Given the description of an element on the screen output the (x, y) to click on. 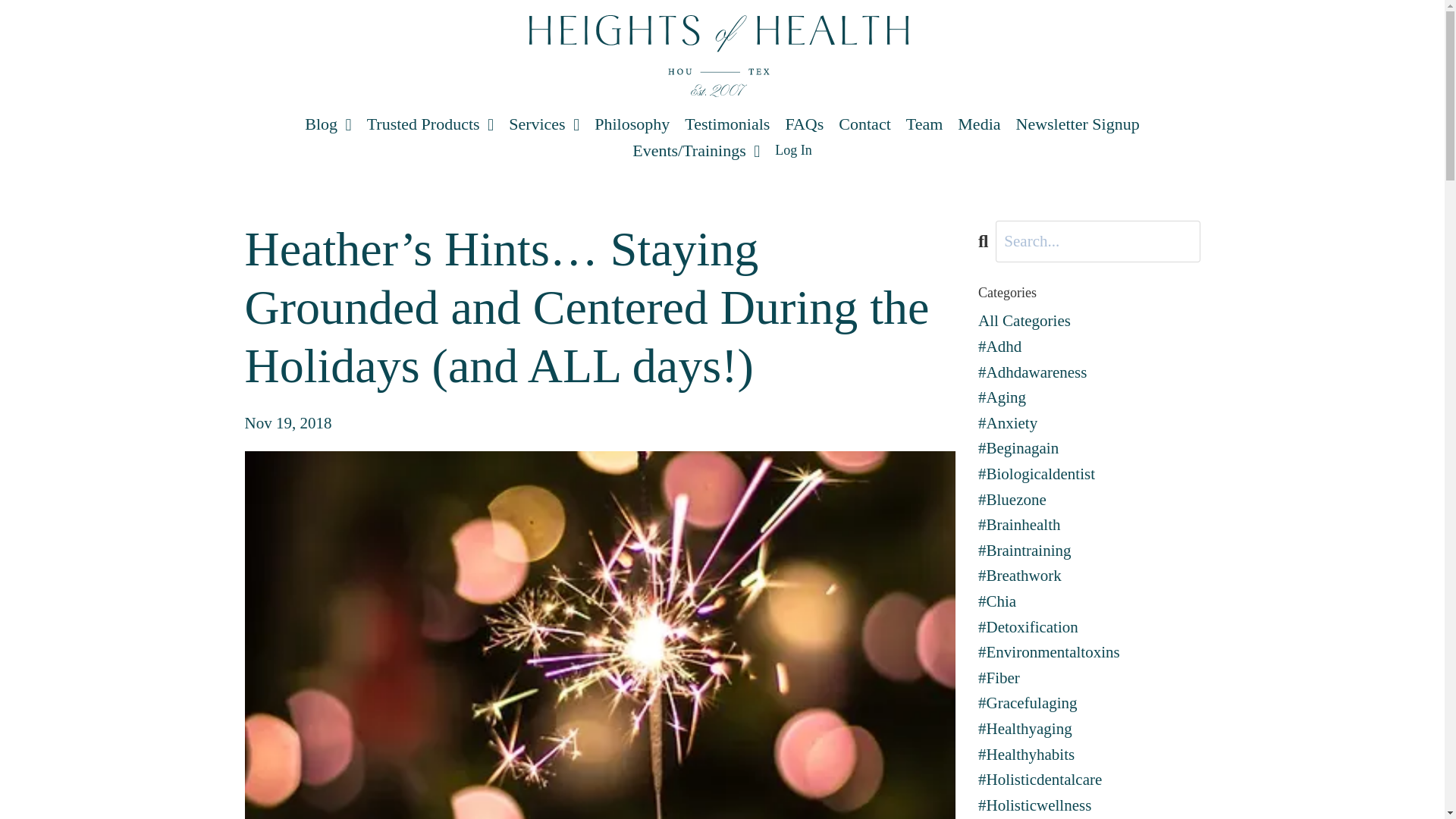
Newsletter Signup (1078, 123)
Log In (793, 150)
Contact (863, 123)
Media (979, 123)
Trusted Products (429, 123)
Philosophy (631, 123)
FAQs (804, 123)
Testimonials (727, 123)
Team (924, 123)
Blog (327, 123)
